Given the description of an element on the screen output the (x, y) to click on. 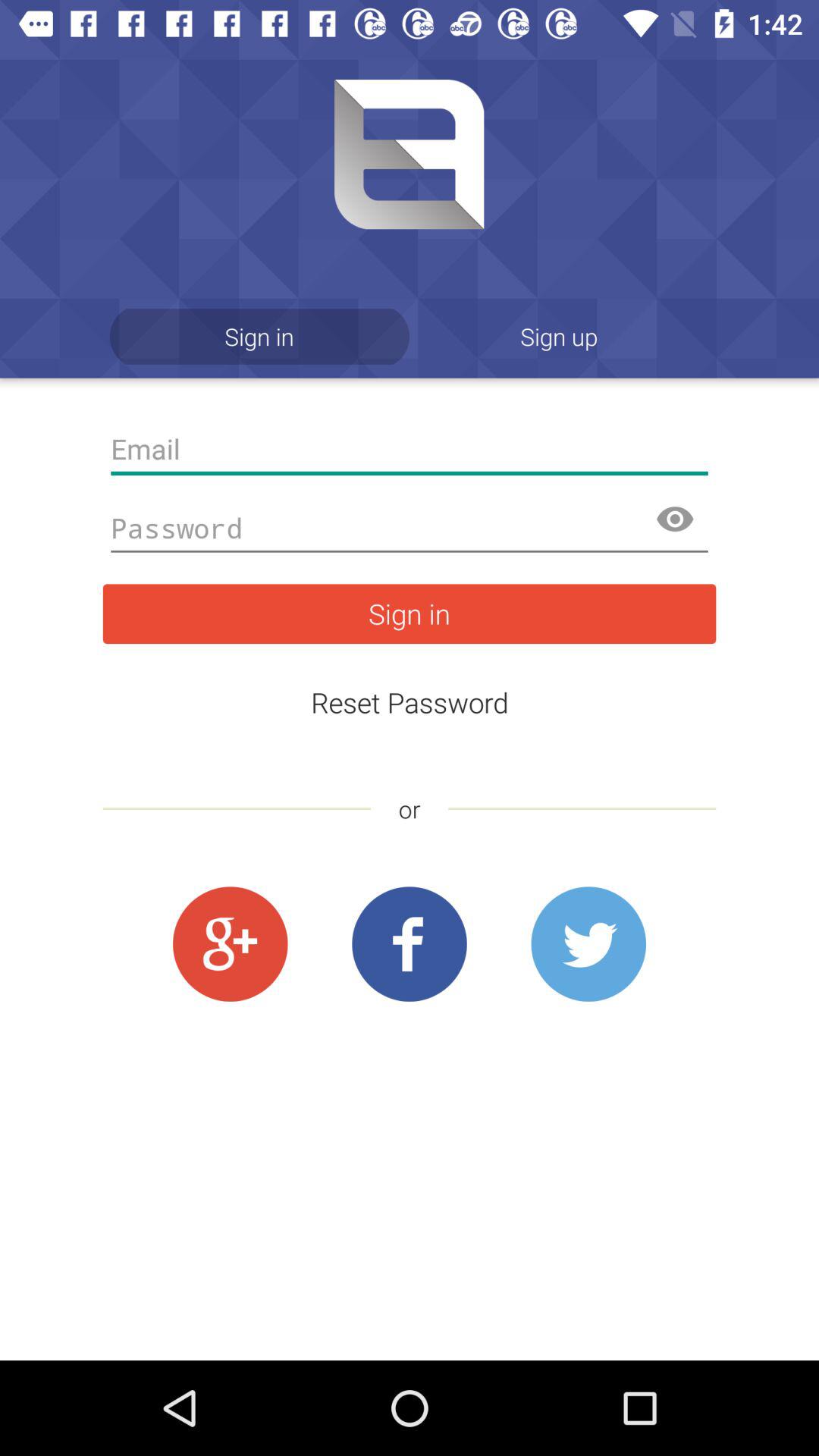
toggle email (409, 449)
